Given the description of an element on the screen output the (x, y) to click on. 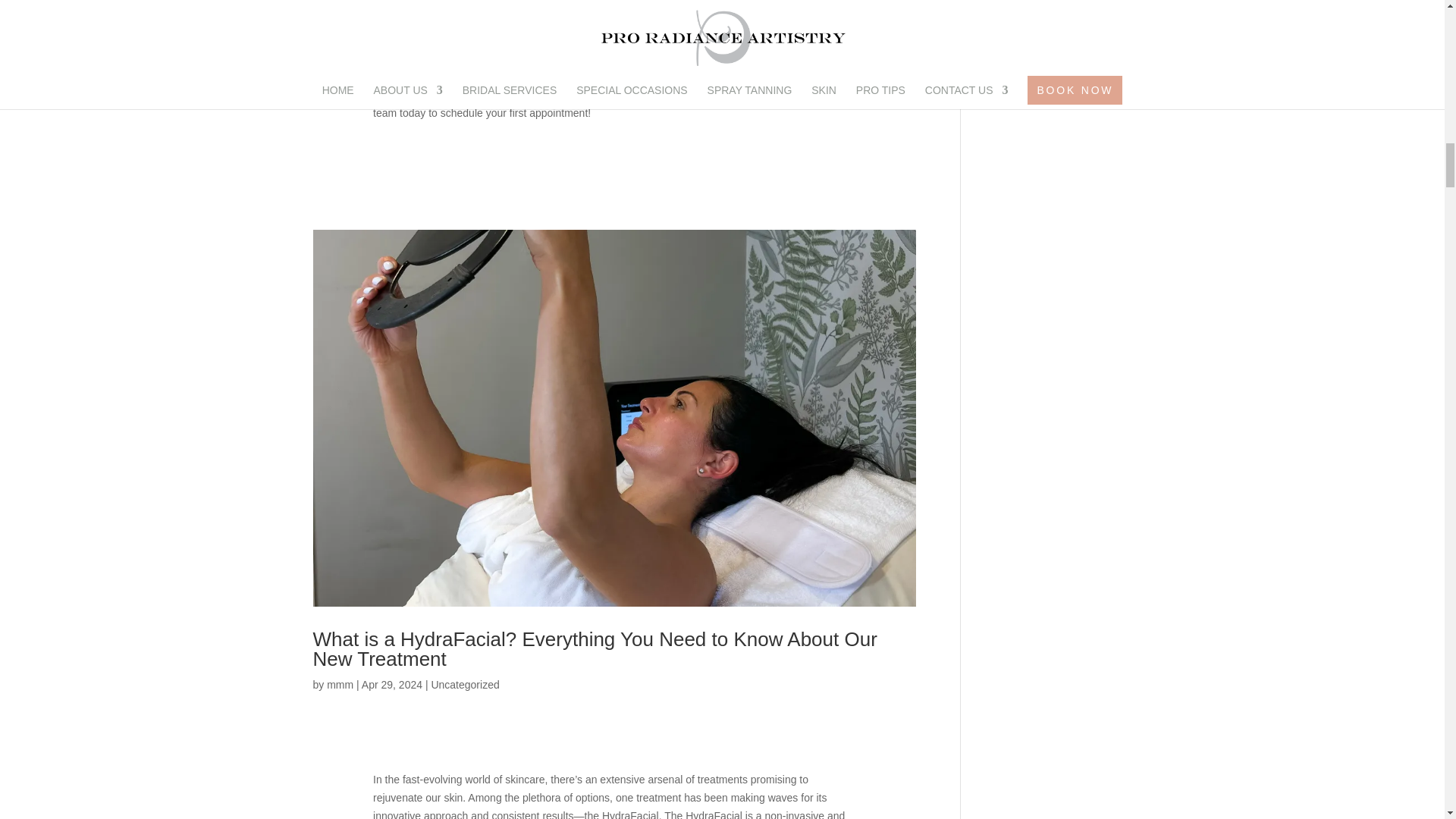
Posts by mmm (339, 684)
mmm (339, 684)
Uncategorized (464, 684)
